Given the description of an element on the screen output the (x, y) to click on. 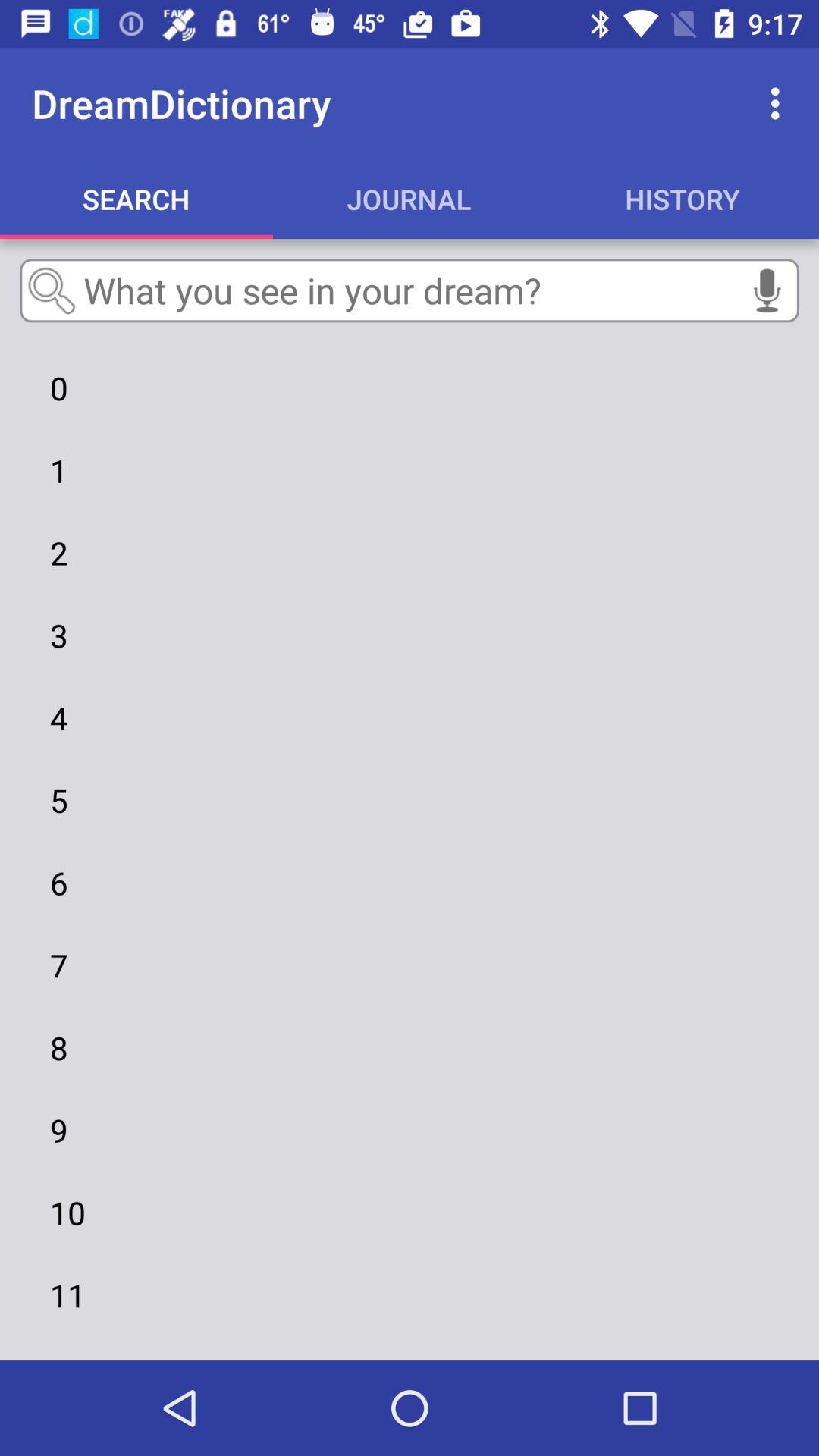
click the item above history (779, 103)
